Given the description of an element on the screen output the (x, y) to click on. 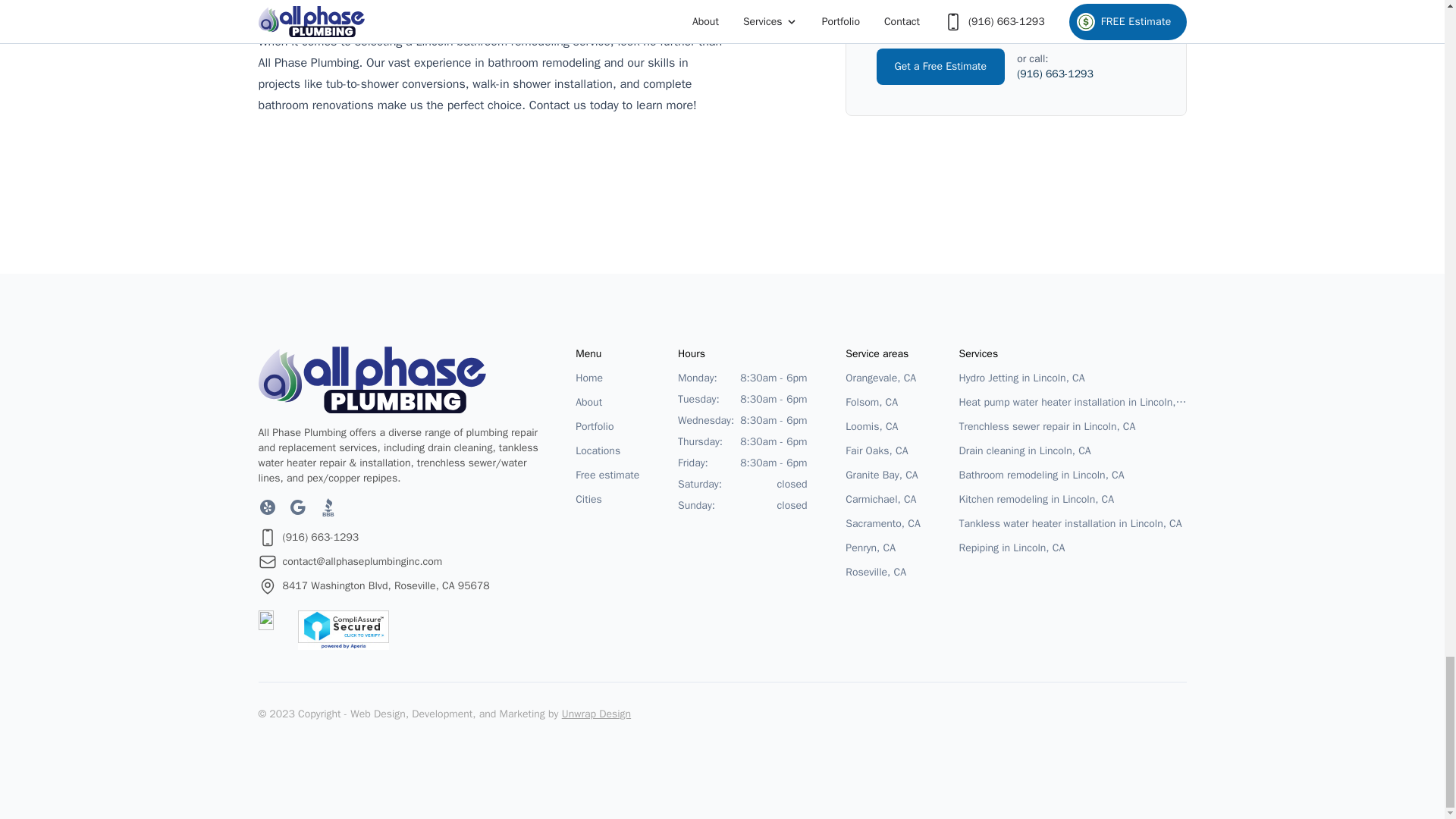
Orangevale, CA (883, 378)
Free estimate (607, 475)
Locations (607, 450)
Home (607, 378)
Portfolio (607, 426)
Cities (607, 499)
About (607, 402)
